Given the description of an element on the screen output the (x, y) to click on. 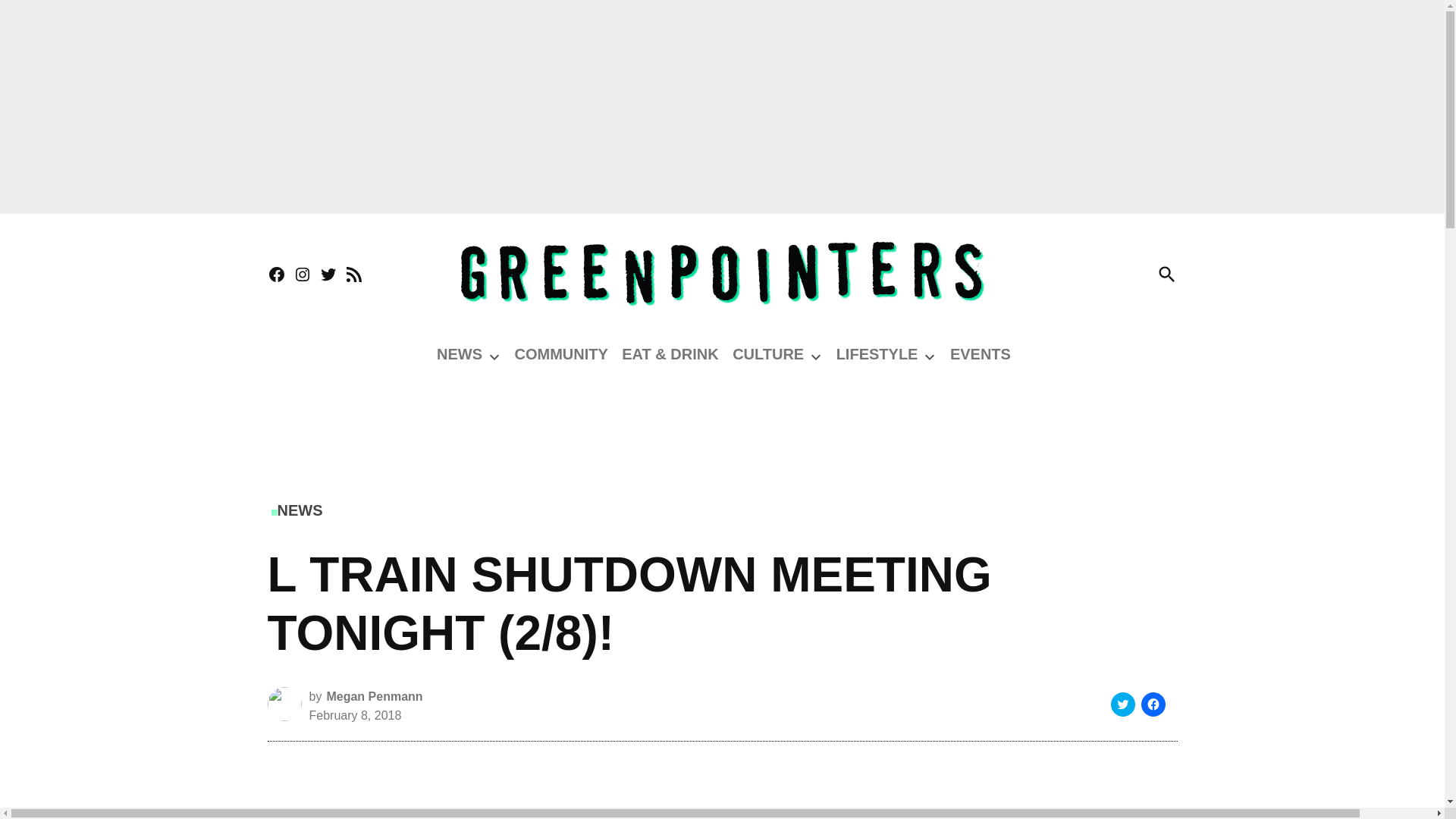
RSS (352, 274)
Open dropdown menu (493, 356)
3rd party ad content (721, 424)
NEWS (458, 354)
Click to share on Twitter (1121, 704)
Click to share on Facebook (1152, 704)
3rd party ad content (1040, 805)
Open dropdown menu (815, 356)
Greenpointers (1255, 284)
3rd party ad content (562, 786)
TWITTER (327, 274)
COMMUNITY (560, 354)
LIFESTYLE (876, 354)
INSTAGRAM (301, 274)
